Given the description of an element on the screen output the (x, y) to click on. 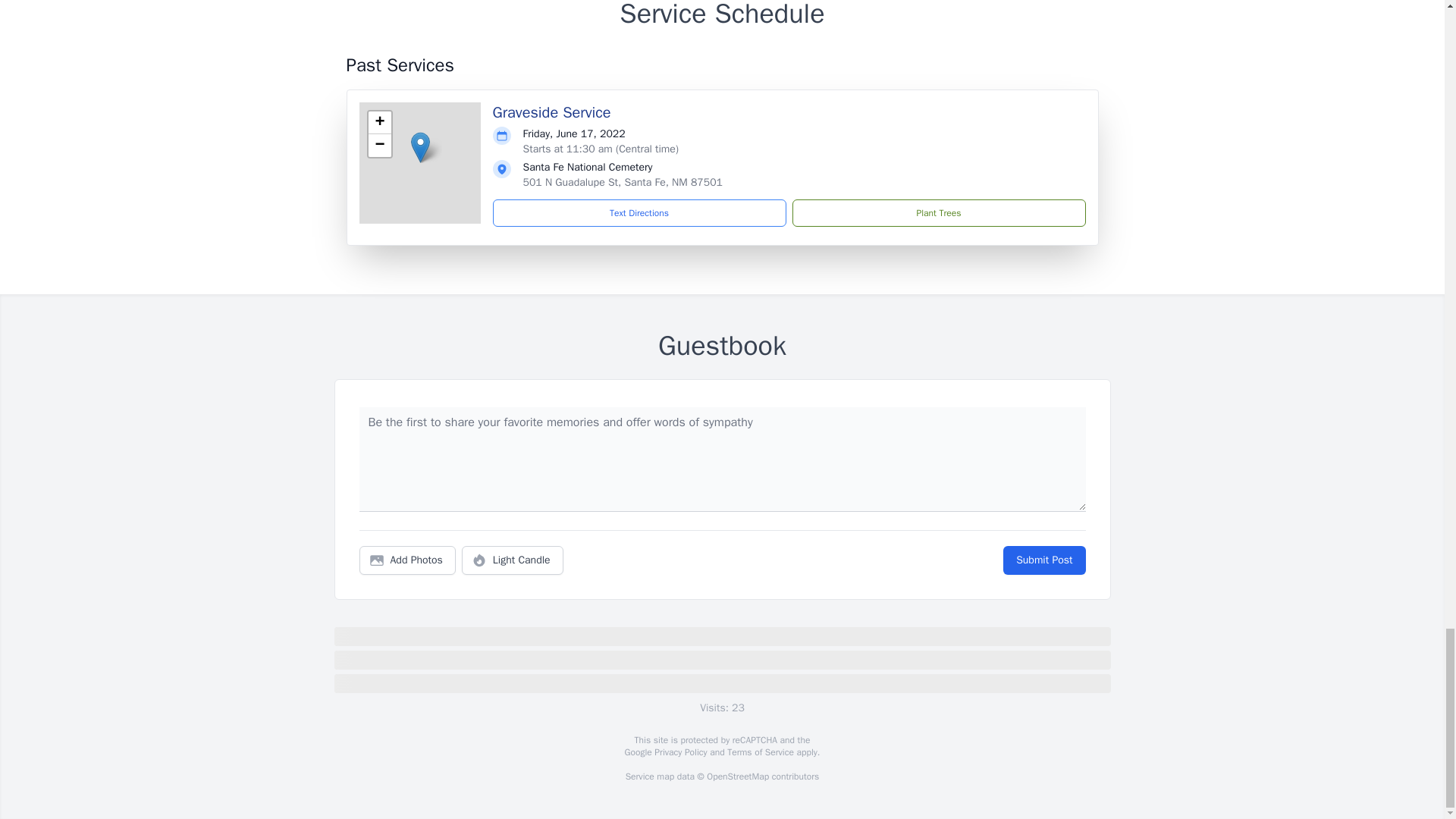
Privacy Policy (679, 752)
501 N Guadalupe St, Santa Fe, NM 87501 (622, 182)
Text Directions (639, 212)
Submit Post (1043, 560)
Plant Trees (938, 212)
Light Candle (512, 560)
Zoom in (379, 122)
Add Photos (407, 560)
Terms of Service (759, 752)
Zoom out (379, 145)
OpenStreetMap (737, 776)
